Given the description of an element on the screen output the (x, y) to click on. 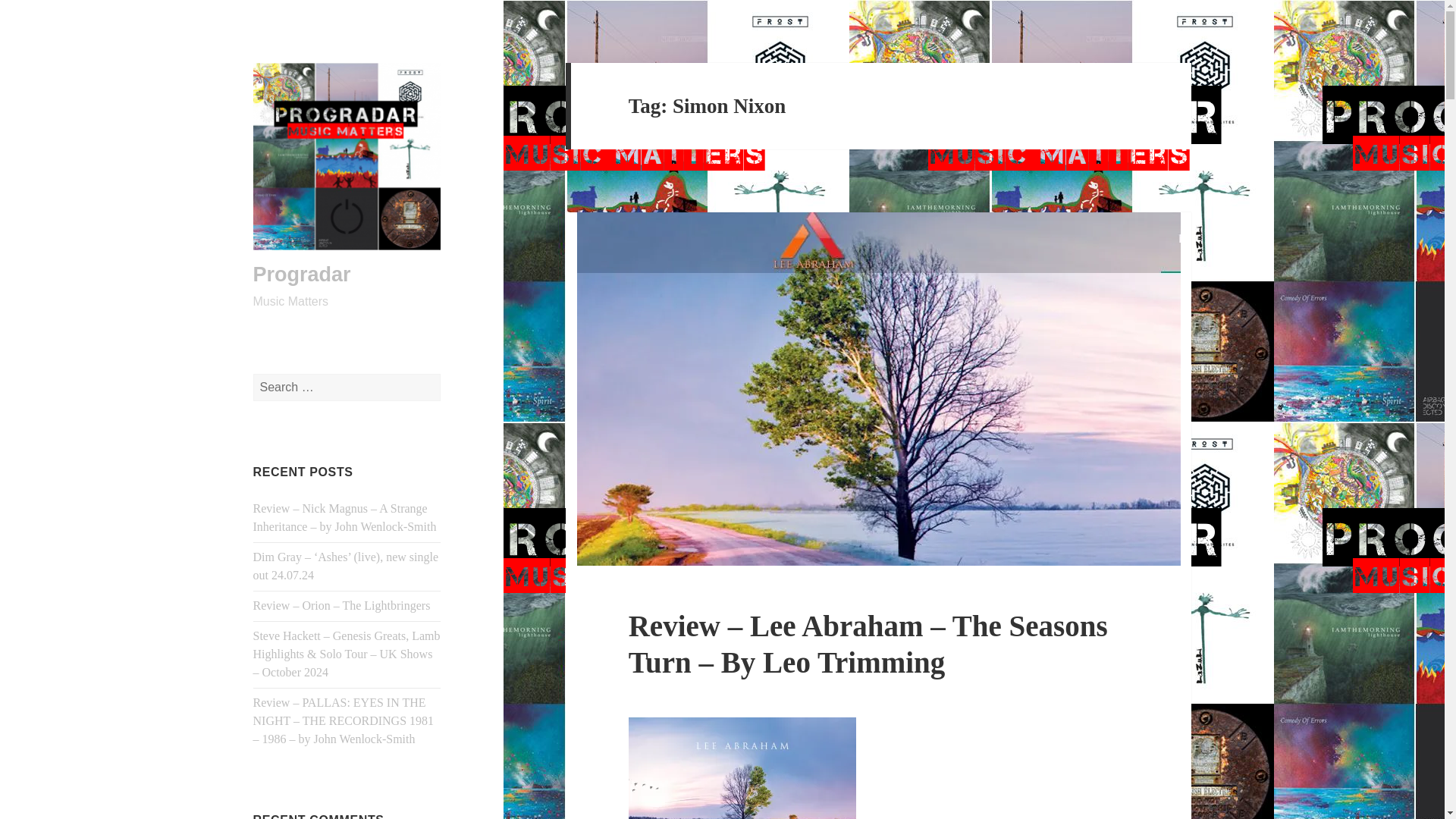
Progradar (301, 273)
